Given the description of an element on the screen output the (x, y) to click on. 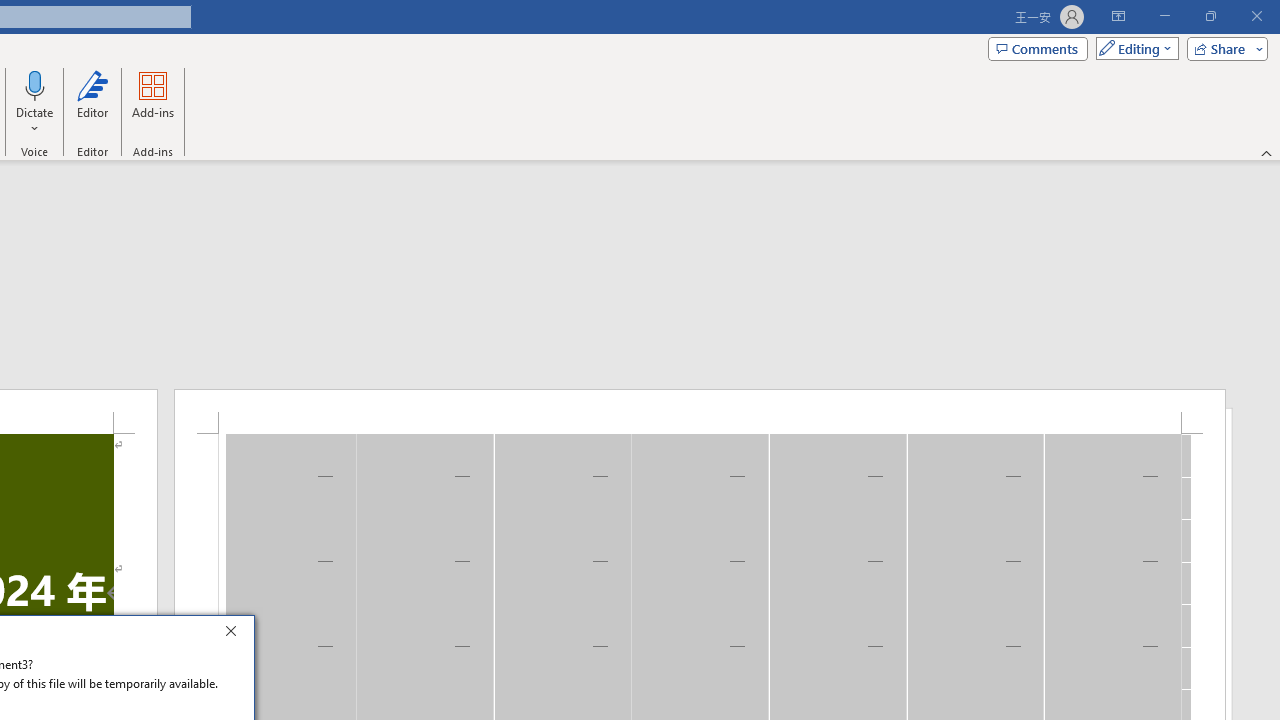
Header -Section 1- (700, 411)
